Given the description of an element on the screen output the (x, y) to click on. 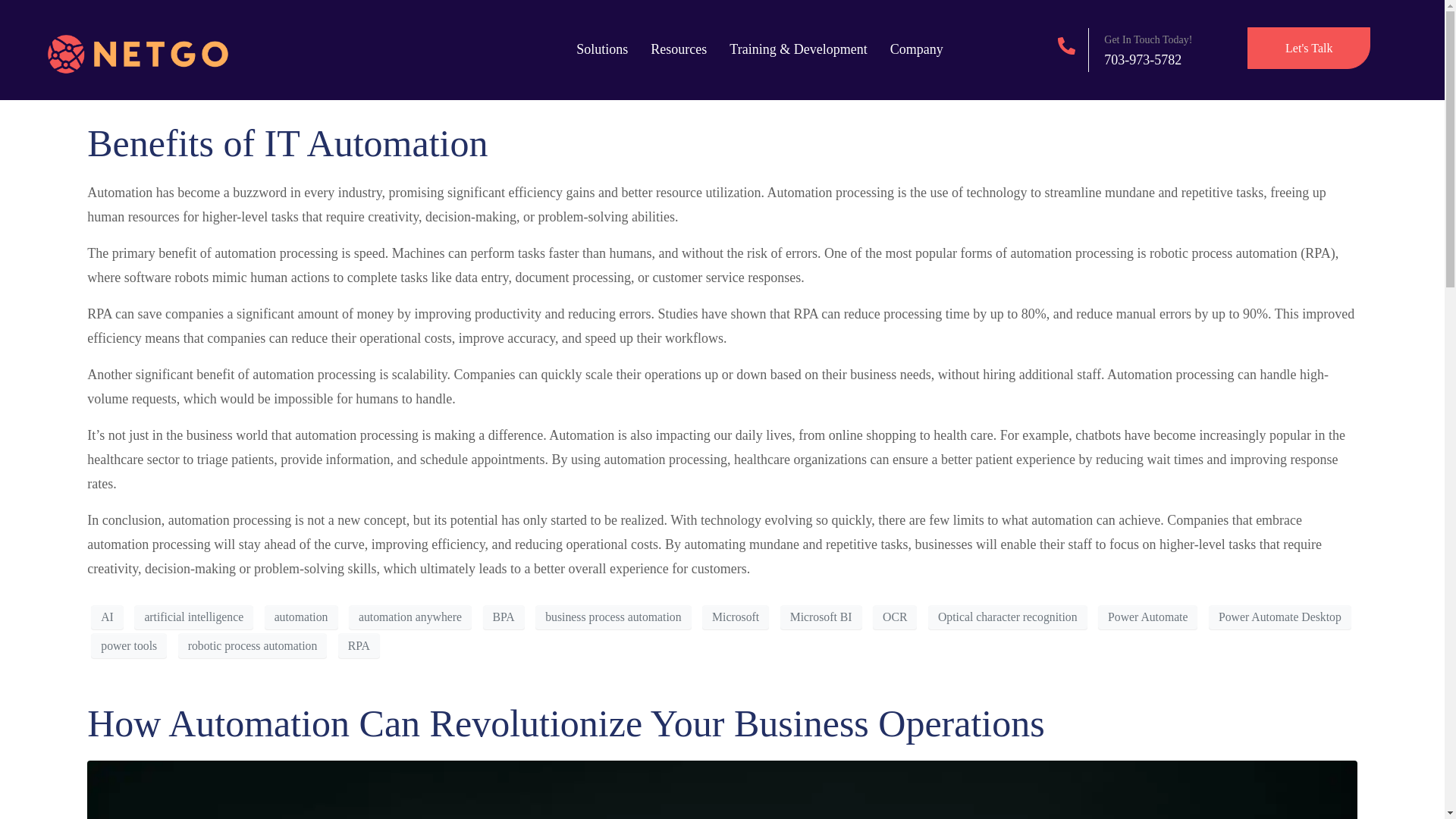
Resources (678, 49)
Company (916, 49)
Benefits of IT Automation (287, 143)
How Automation Can Revolutionize Your Business Operations (565, 722)
Solutions (601, 49)
